Given the description of an element on the screen output the (x, y) to click on. 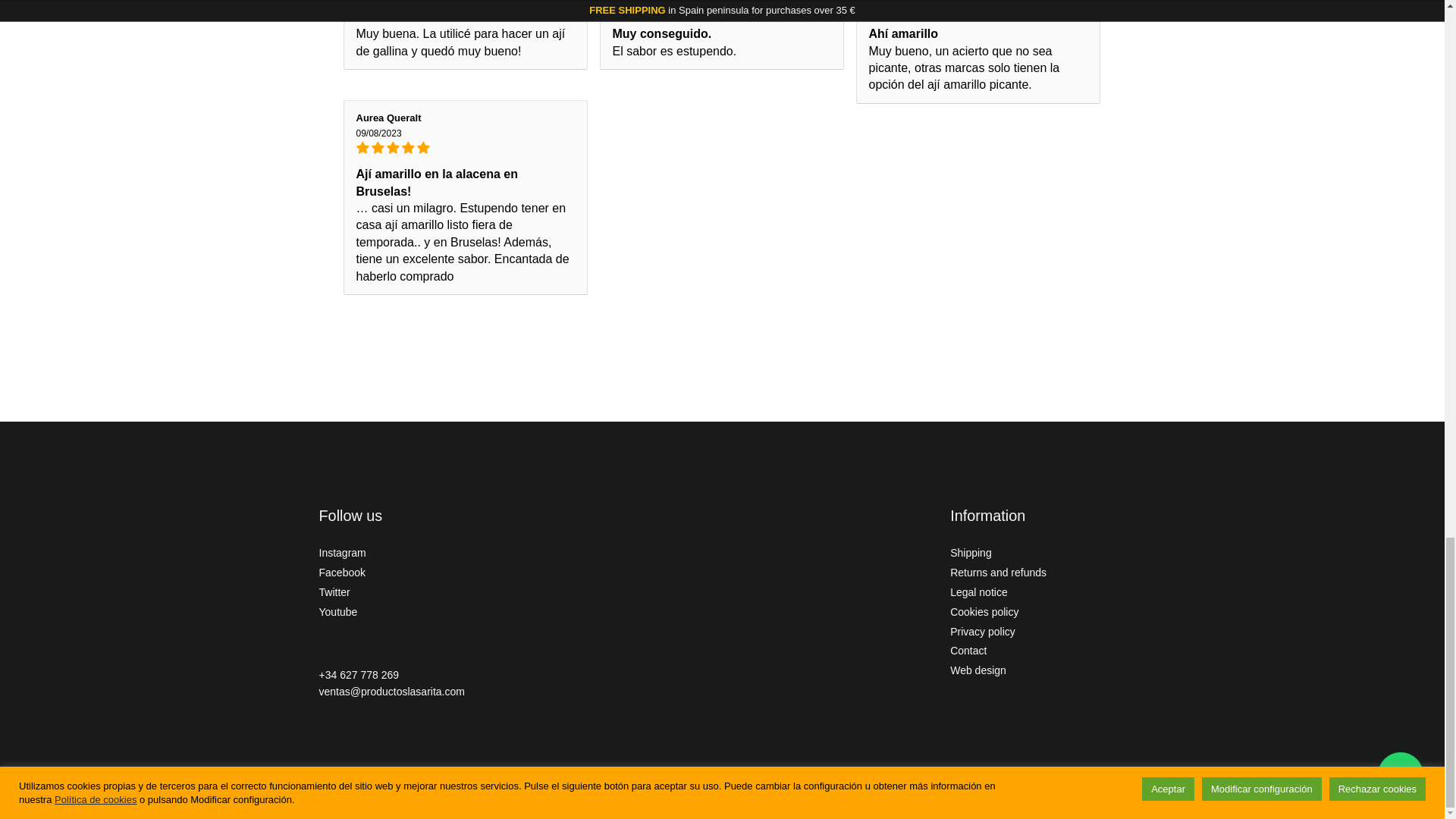
Twitter (334, 592)
Instagram (342, 552)
Returns and refunds (998, 572)
Youtube (338, 612)
Facebook (341, 572)
Legal notice (978, 592)
Shipping (970, 552)
